Given the description of an element on the screen output the (x, y) to click on. 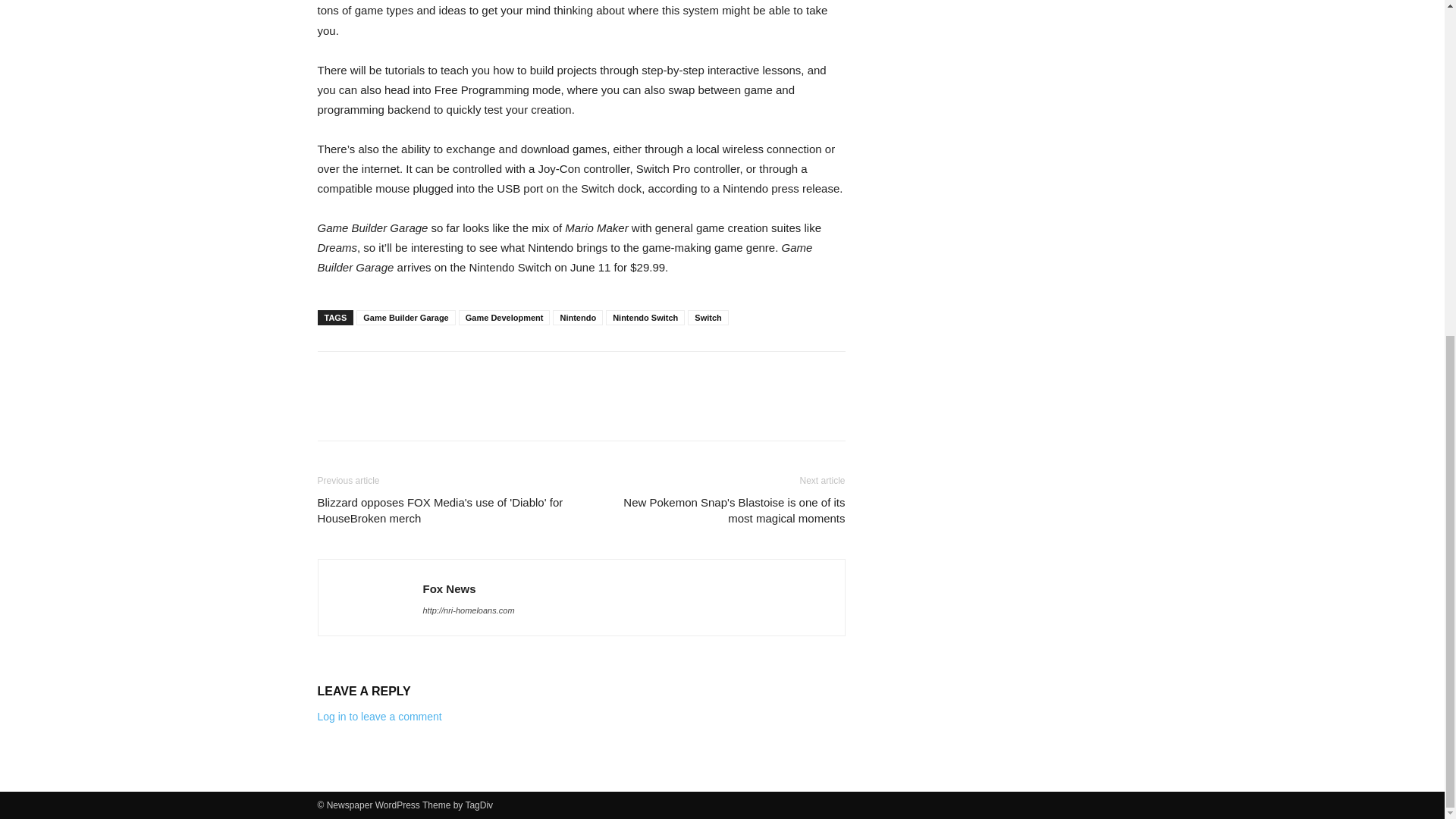
Nintendo (577, 316)
Fox News (449, 588)
Switch (707, 316)
bottomFacebookLike (430, 374)
Nintendo Switch (644, 316)
Game Development (504, 316)
Game Builder Garage (405, 316)
